Given the description of an element on the screen output the (x, y) to click on. 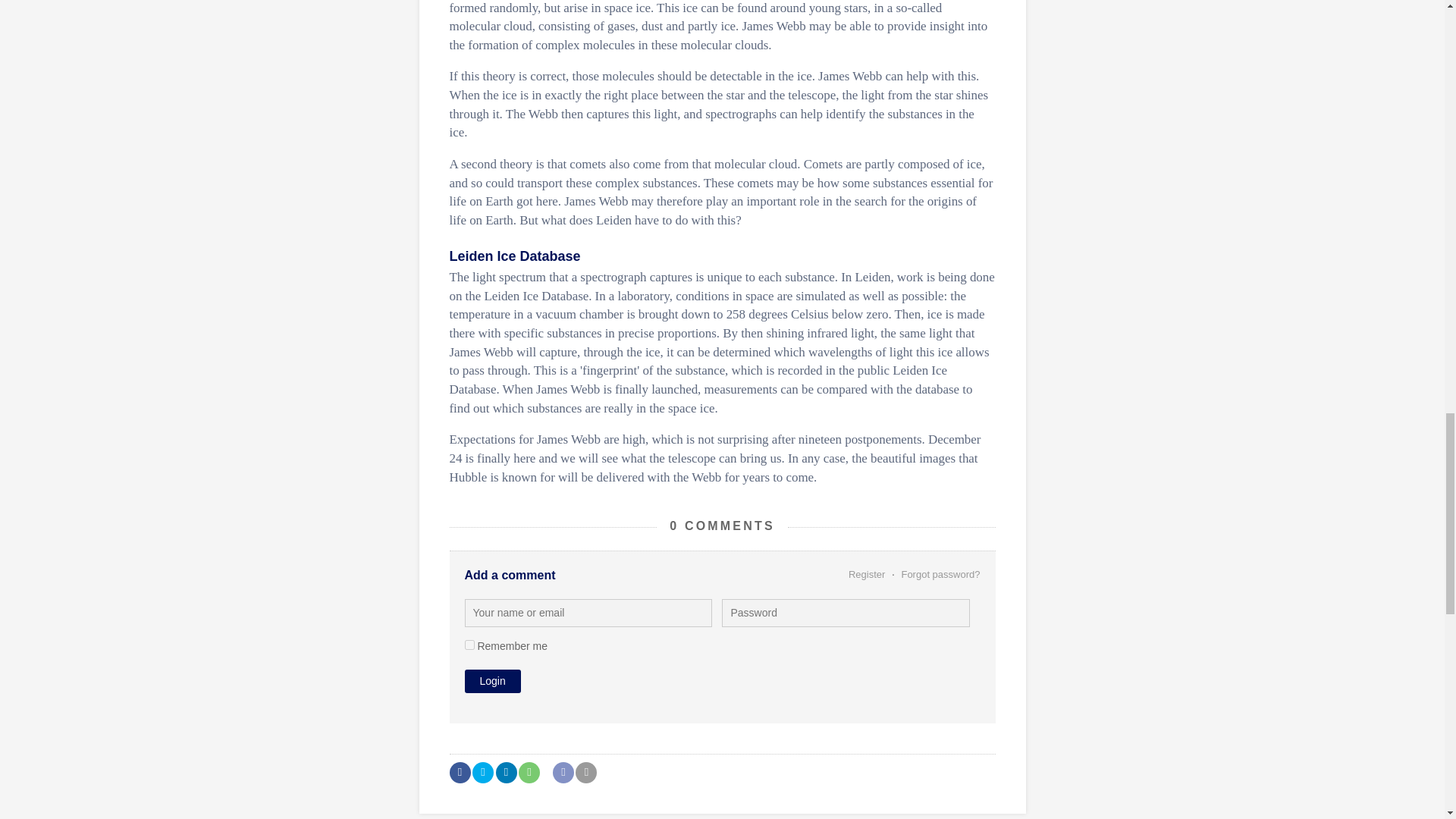
Login (491, 680)
Register (868, 573)
Forgot password? (938, 573)
Print (585, 772)
Login (491, 680)
1 (469, 644)
